Given the description of an element on the screen output the (x, y) to click on. 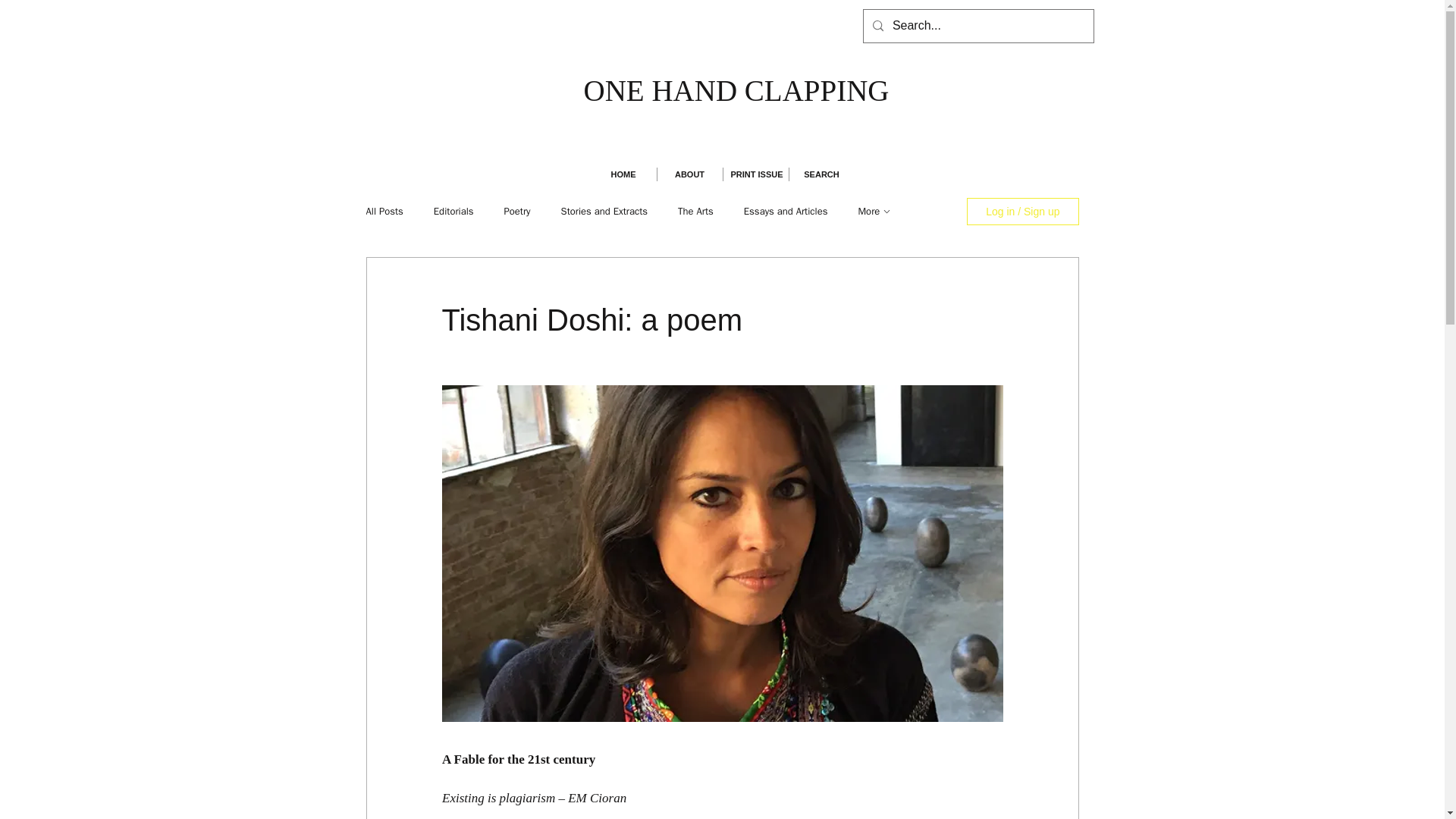
HOME (622, 173)
PRINT ISSUE (756, 173)
Stories and Extracts (603, 211)
SEARCH (821, 173)
Editorials (453, 211)
Essays and Articles (786, 211)
All Posts (384, 211)
The Arts (695, 211)
ABOUT (689, 173)
Poetry (517, 211)
